Given the description of an element on the screen output the (x, y) to click on. 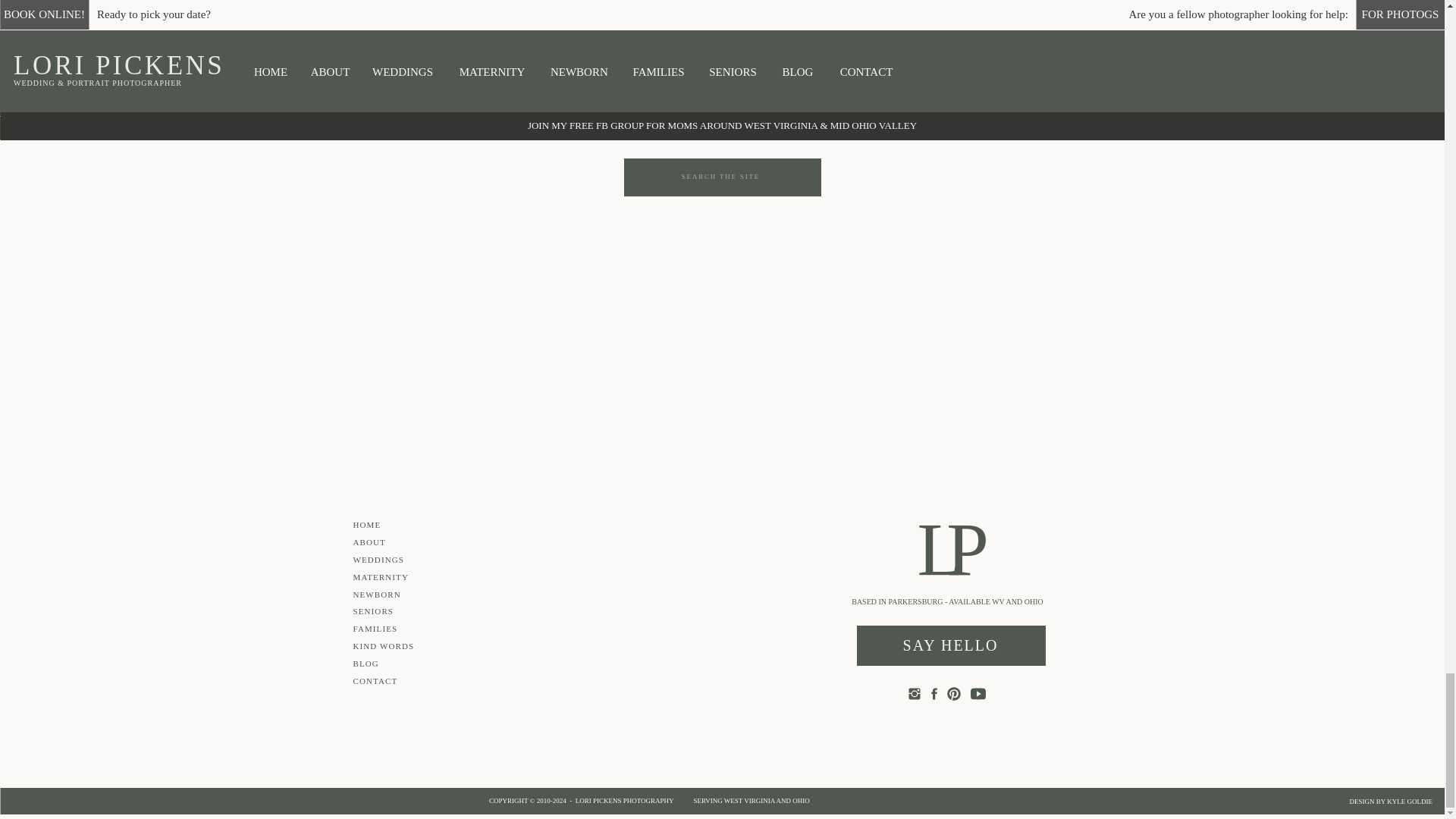
SENIORS (928, 126)
FAMILIES (513, 127)
